Given the description of an element on the screen output the (x, y) to click on. 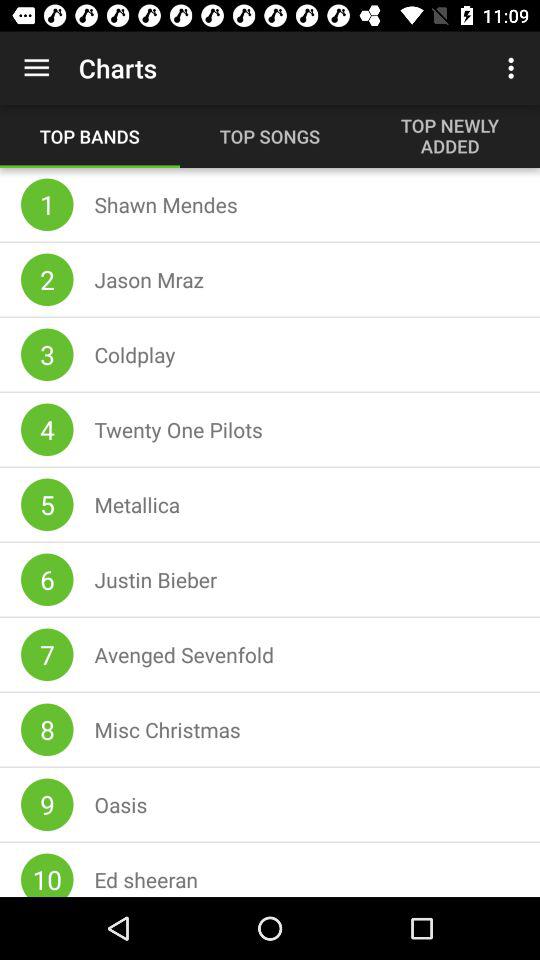
press the item below 8 icon (47, 804)
